Given the description of an element on the screen output the (x, y) to click on. 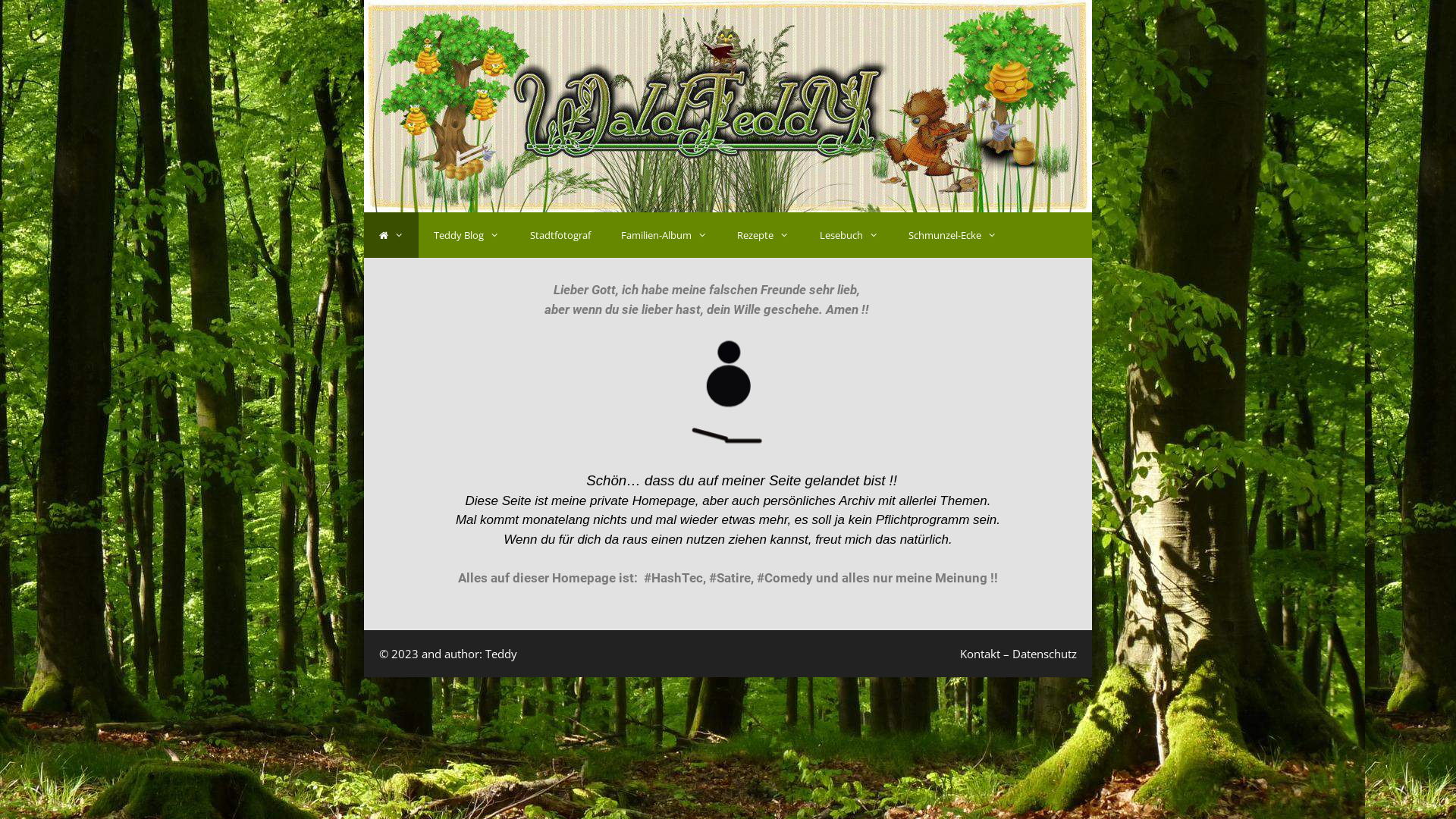
Schmunzel-Ecke Element type: text (952, 234)
Teddy Blog Element type: text (466, 234)
Waldteddy.cc Element type: hover (728, 106)
Familien-Album Element type: text (663, 234)
Stadtfotograf Element type: text (559, 234)
Waldteddy.cc Element type: hover (728, 104)
Datenschutz Element type: text (1044, 653)
Lesebuch Element type: text (848, 234)
Rezepte Element type: text (762, 234)
Kontakt Element type: text (980, 653)
